Given the description of an element on the screen output the (x, y) to click on. 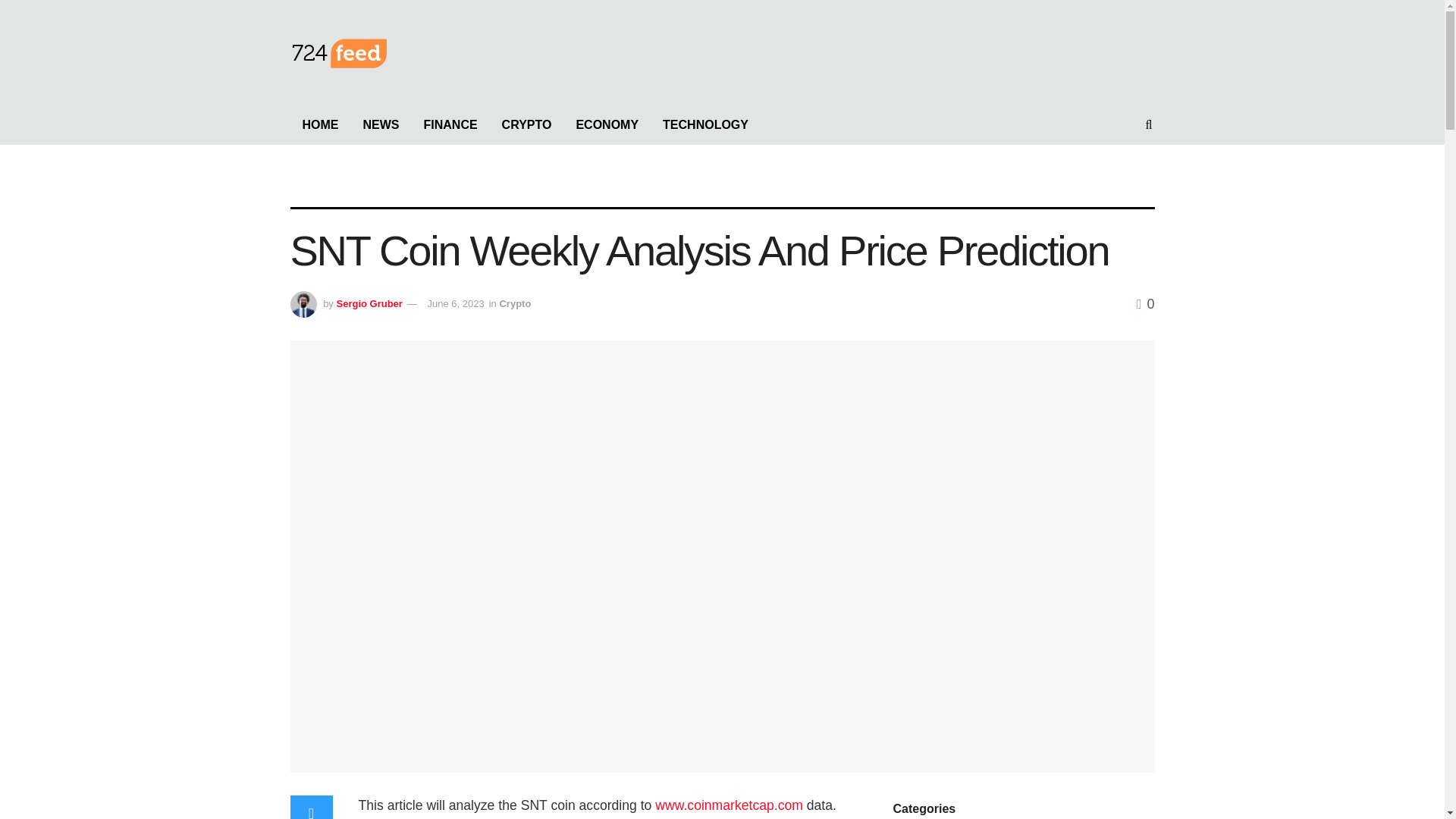
NEWS (380, 125)
HOME (319, 125)
CRYPTO (526, 125)
June 6, 2023 (456, 303)
0 (1145, 304)
Crypto (515, 303)
ECONOMY (606, 125)
TECHNOLOGY (705, 125)
FINANCE (449, 125)
Sergio Gruber (368, 303)
www.coinmarketcap.com (729, 805)
